Given the description of an element on the screen output the (x, y) to click on. 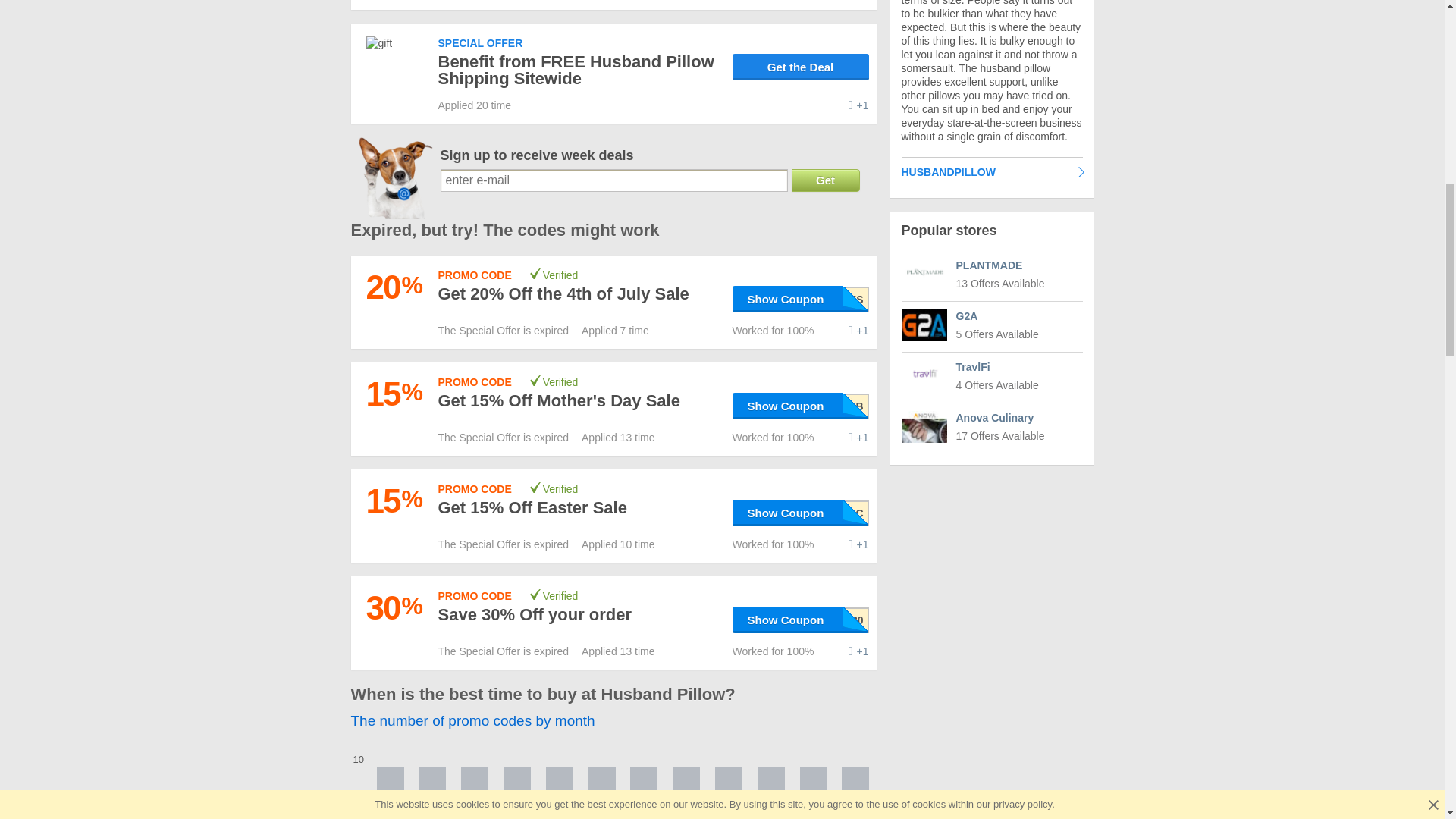
Leave your comment  (858, 330)
Get the Deal (800, 67)
Show Coupon (800, 406)
Leave your comment  (858, 105)
Show Coupon (800, 298)
Show Coupon (800, 512)
Leave your comment  (858, 544)
Leave your comment  (858, 437)
